Given the description of an element on the screen output the (x, y) to click on. 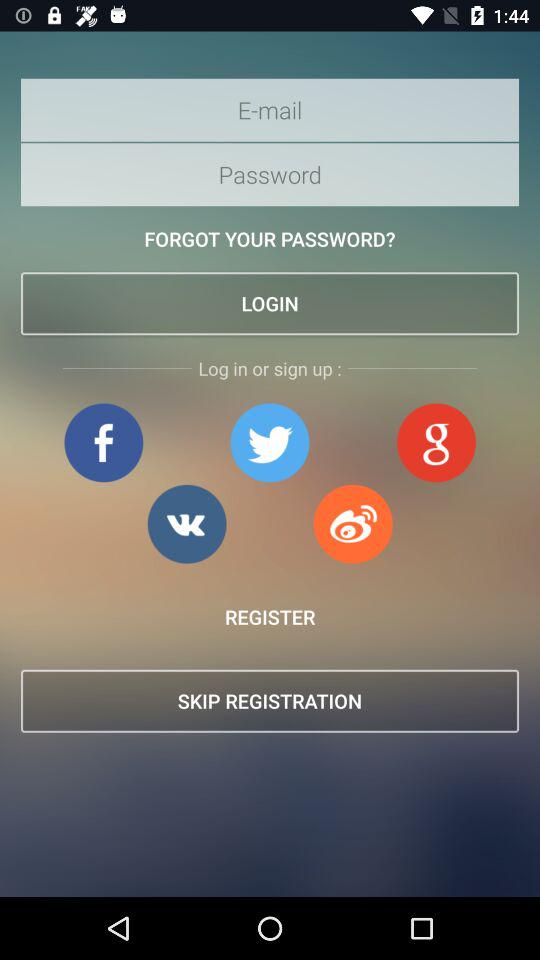
open the register item (270, 616)
